Given the description of an element on the screen output the (x, y) to click on. 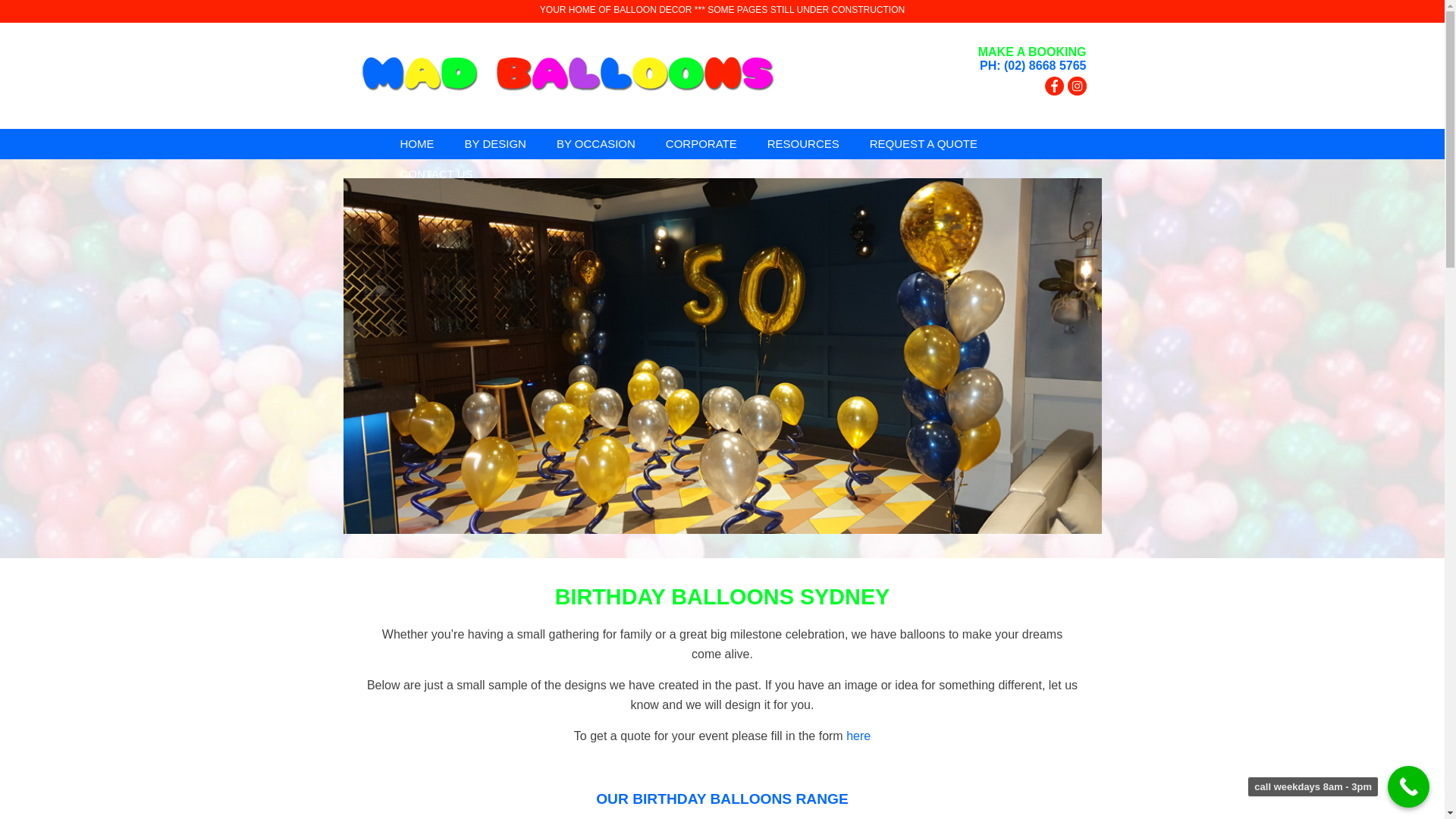
CORPORATE Element type: text (701, 143)
here Element type: text (858, 735)
RESOURCES Element type: text (803, 143)
CONTACT US Element type: text (436, 174)
BY DESIGN Element type: text (494, 143)
PH: (02) 8668 5765 Element type: text (1032, 65)
BY OCCASION Element type: text (595, 143)
HOME Element type: text (417, 143)
call weekdays 8am - 3pm Element type: text (1408, 786)
REQUEST A QUOTE Element type: text (923, 143)
